Given the description of an element on the screen output the (x, y) to click on. 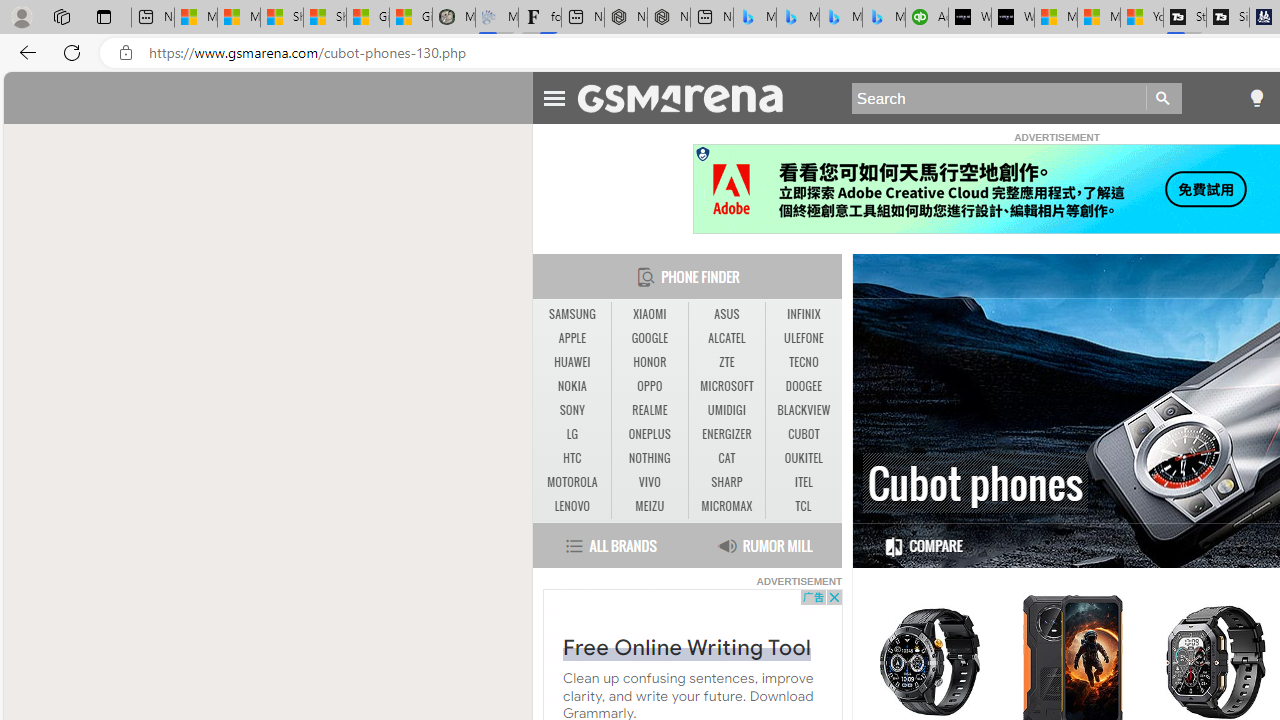
ULEFONE (803, 339)
SONY (571, 411)
CAT (726, 457)
CAT (726, 458)
TECNO (803, 362)
LENOVO (571, 506)
SONY (571, 410)
AutomationID: button (702, 154)
MICROMAX (726, 506)
APPLE (571, 338)
MEIZU (649, 506)
INFINIX (803, 314)
